Given the description of an element on the screen output the (x, y) to click on. 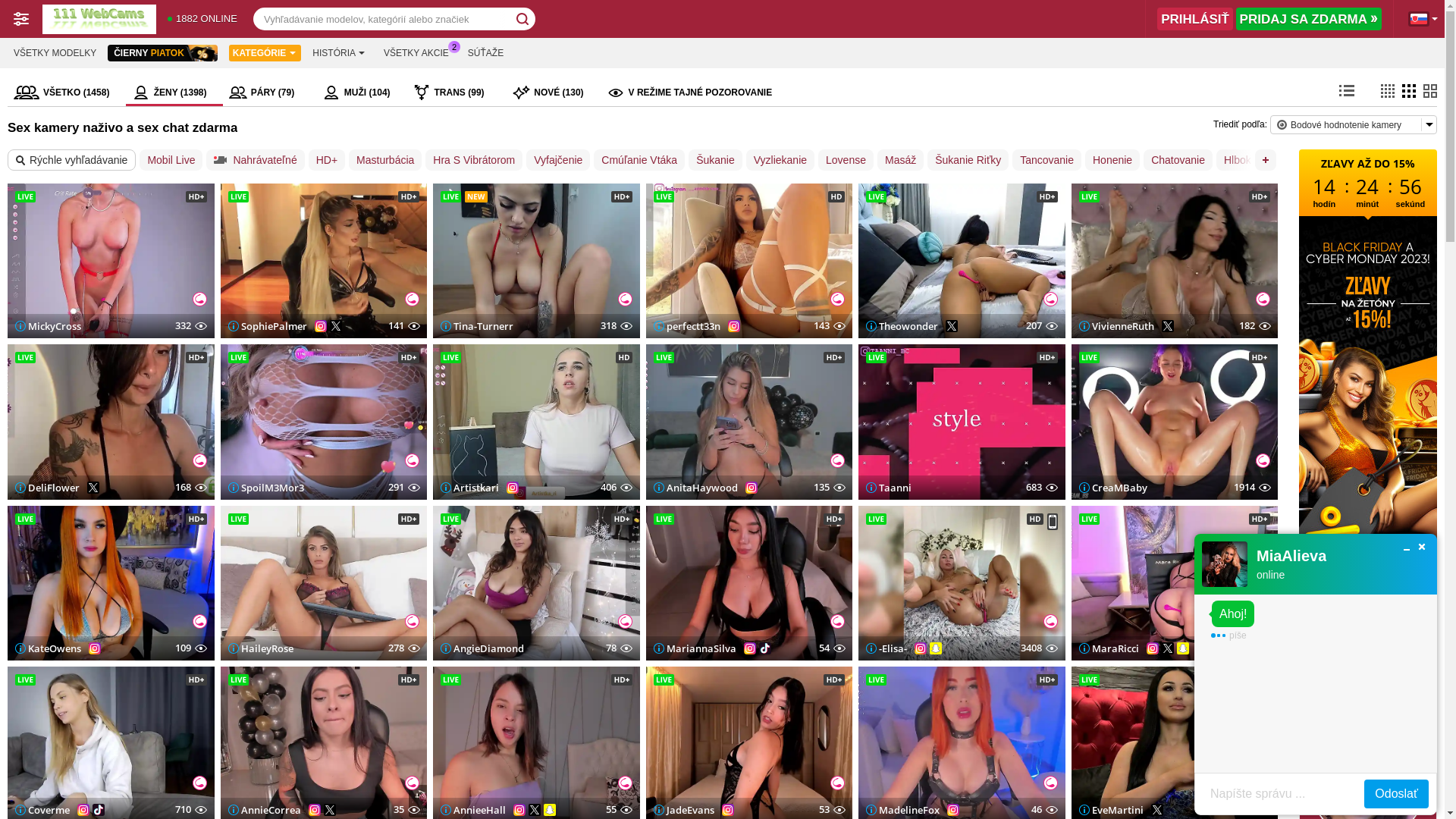
Honenie Element type: text (1112, 159)
DeliFlower Element type: text (47, 487)
Tancovanie Element type: text (1046, 159)
Tina-Turnerr Element type: text (476, 325)
Coverme Element type: text (42, 808)
JadeEvans Element type: text (683, 808)
KateOwens Element type: text (48, 648)
EveMartini Element type: text (1110, 808)
PRIDAJ SA ZDARMA Element type: text (1308, 18)
Hlboko Do Hrdla Element type: text (1262, 159)
VivienneRuth Element type: text (1115, 325)
-Elisa- Element type: text (886, 648)
MadelineFox Element type: text (902, 808)
AnnieeHall Element type: text (472, 808)
Theowonder Element type: text (902, 325)
AnitaHaywood Element type: text (695, 487)
Lovense Element type: text (845, 159)
HaileyRose Element type: text (259, 648)
perfectt33n Element type: text (686, 325)
AnnieCorrea Element type: text (263, 808)
TRANS (99) Element type: text (456, 92)
Vyzliekanie Element type: text (780, 159)
AngieDiamond Element type: text (482, 648)
Artistkari Element type: text (469, 487)
Mobil Live Element type: text (170, 159)
Chatovanie Element type: text (1177, 159)
MickyCross Element type: text (48, 325)
MariannaSilva Element type: text (694, 648)
HD+ Element type: text (326, 159)
SophiePalmer Element type: text (266, 325)
Taanni Element type: text (888, 487)
CreaMBaby Element type: text (1112, 487)
SpoilM3Mor3 Element type: text (265, 487)
MaraRicci Element type: text (1108, 648)
